Given the description of an element on the screen output the (x, y) to click on. 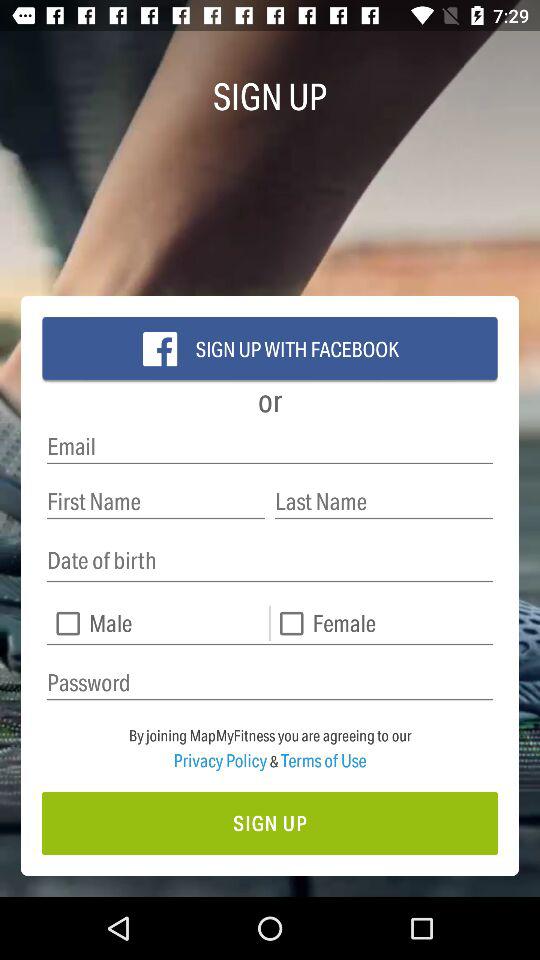
enter password here (270, 682)
